Given the description of an element on the screen output the (x, y) to click on. 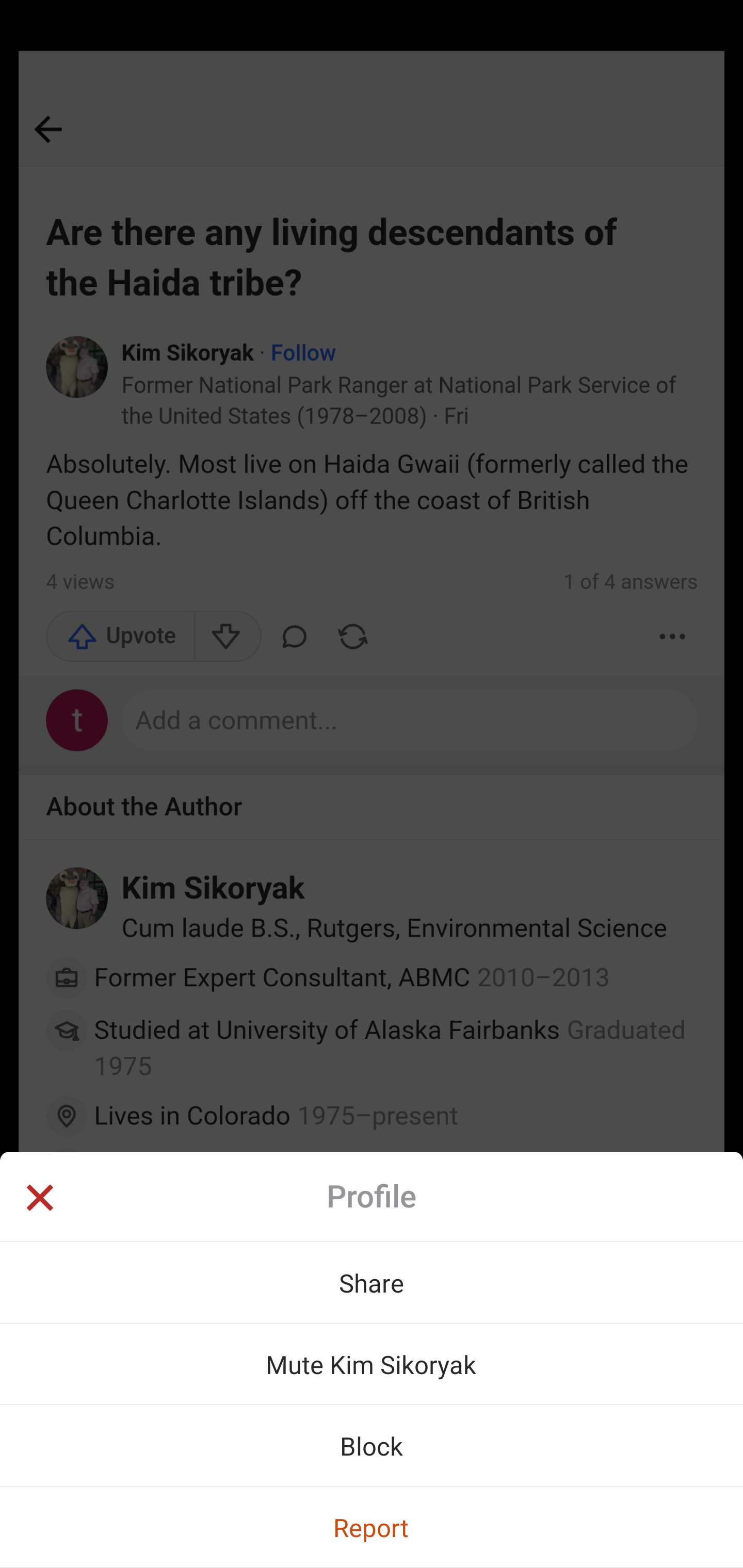
 Profile (371, 1196)
 (39, 1199)
Share (371, 1282)
Mute Kim Sikoryak (371, 1363)
Block (371, 1445)
Report (371, 1527)
